Given the description of an element on the screen output the (x, y) to click on. 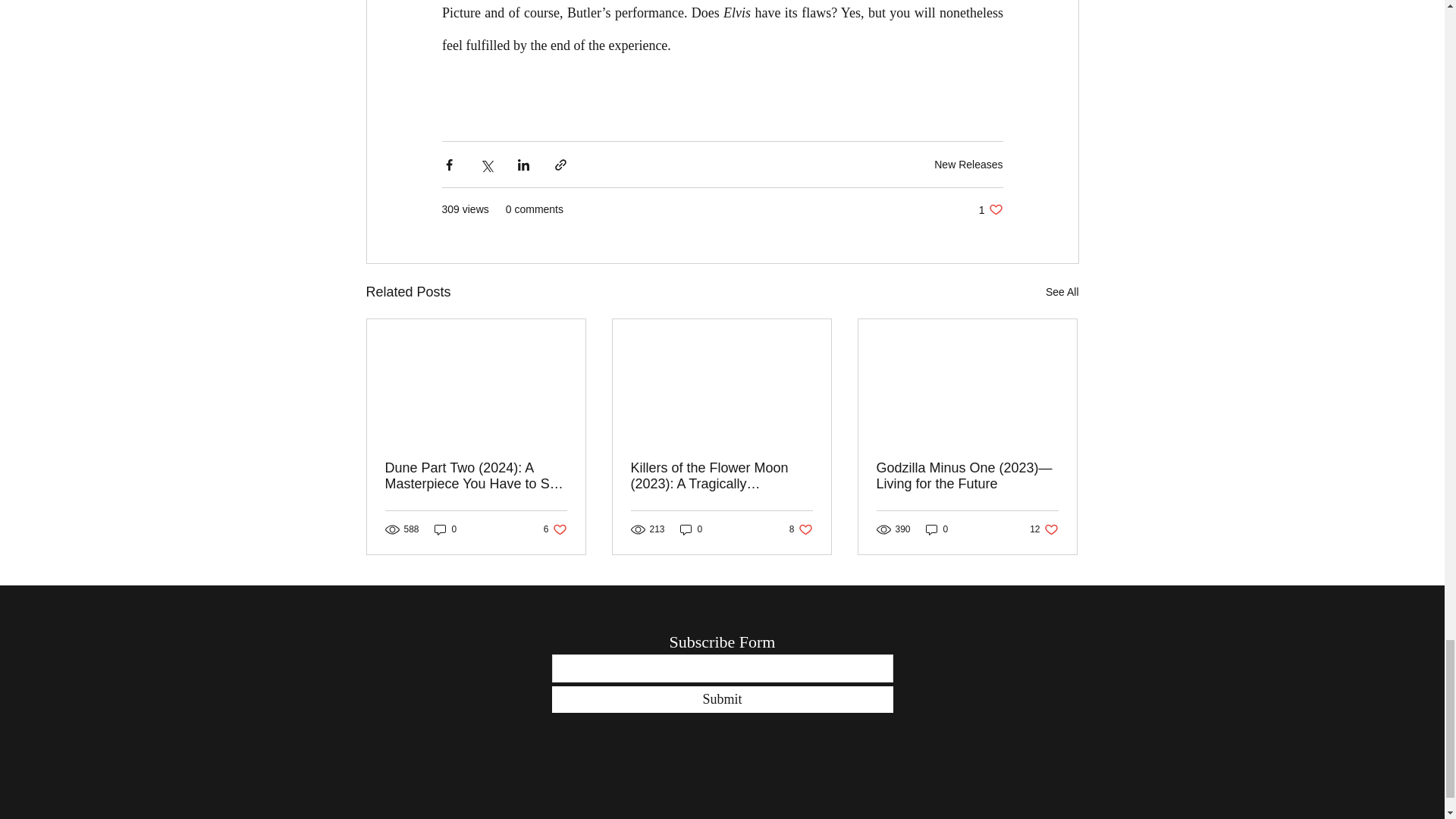
0 (691, 529)
New Releases (968, 164)
0 (555, 529)
See All (445, 529)
